Given the description of an element on the screen output the (x, y) to click on. 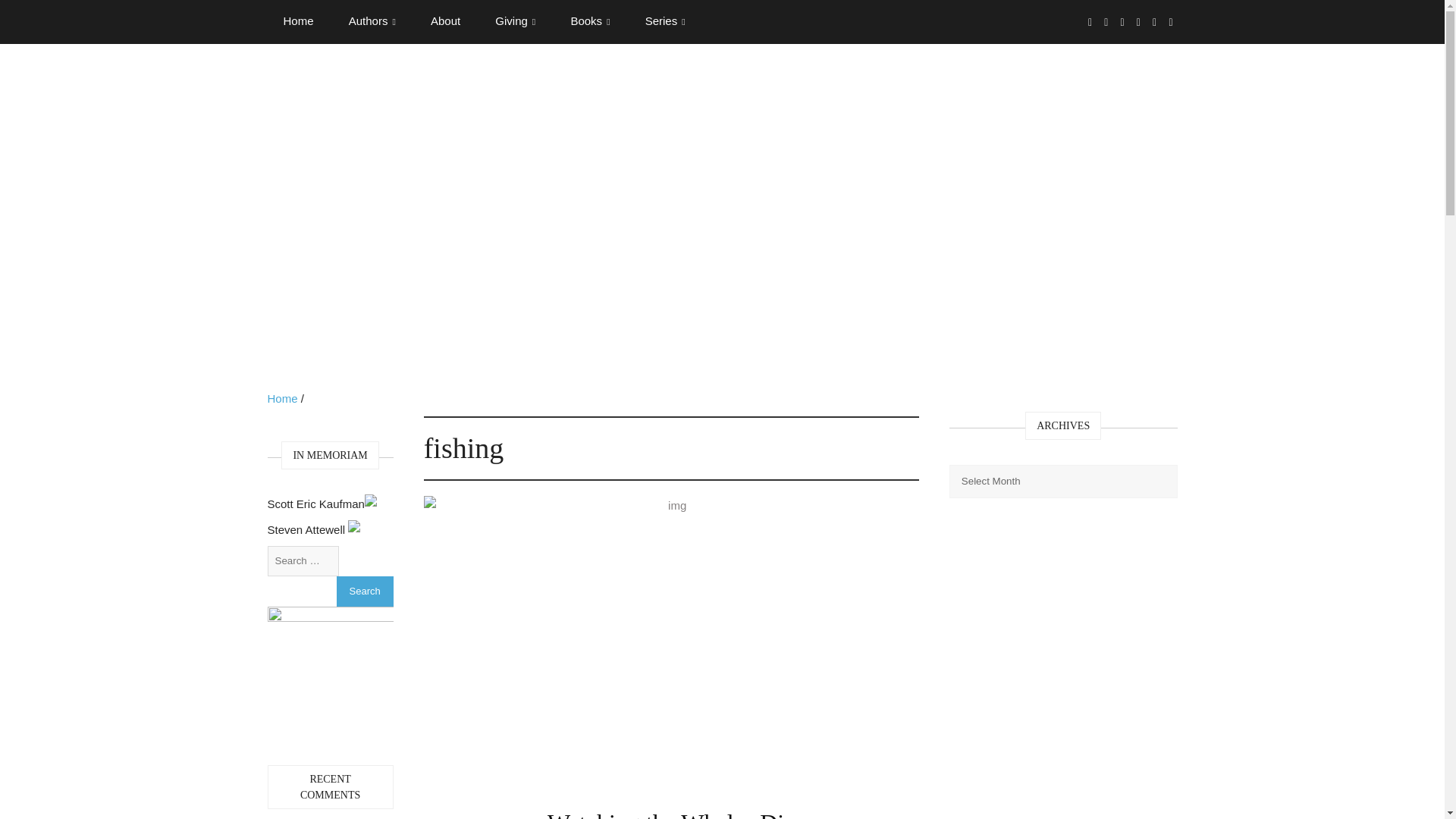
About (445, 21)
Search (364, 591)
Books (590, 21)
Home (297, 21)
Giving (515, 21)
Search (364, 591)
Authors (372, 21)
